Given the description of an element on the screen output the (x, y) to click on. 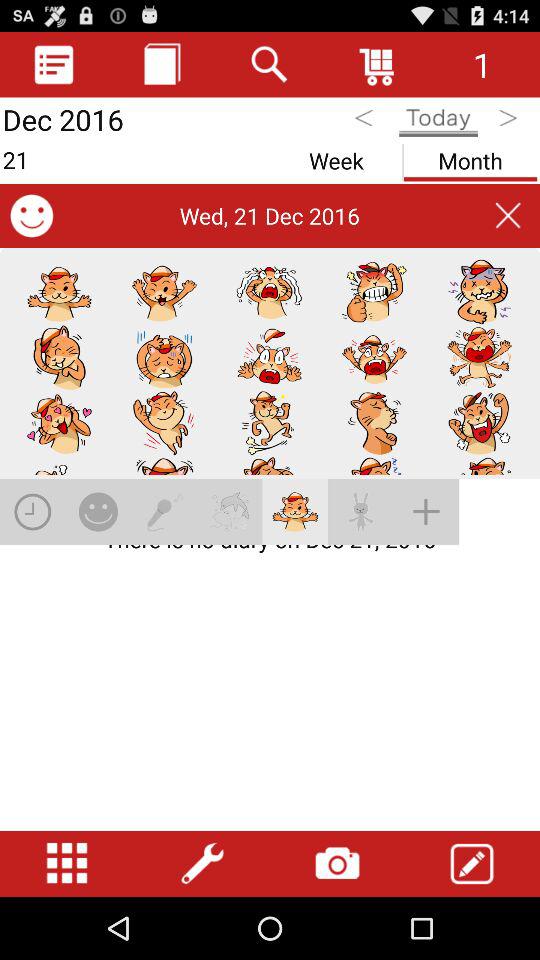
click on month which is below today (470, 157)
